Given the description of an element on the screen output the (x, y) to click on. 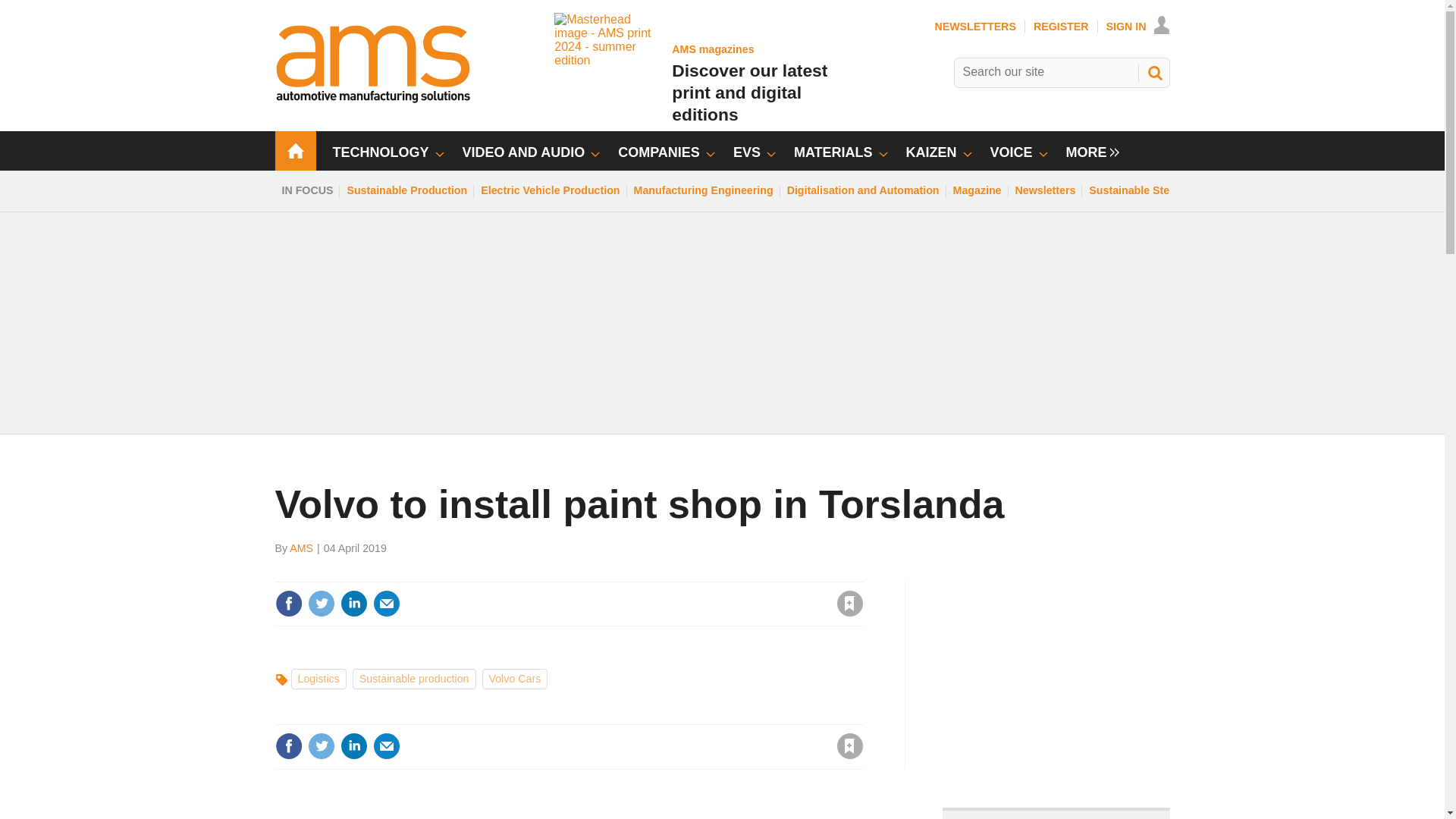
Share this on Twitter (320, 746)
Electric Vehicle Production (550, 190)
SIGN IN (1138, 26)
Manufacturing Engineering (703, 190)
Share this on Linked in (352, 603)
REGISTER (1061, 26)
Share this on Facebook (288, 746)
Magazine (977, 190)
Automotive Manufacturing Solutions (373, 98)
Sustainable Steel Survey (690, 71)
SEARCH (1152, 190)
Newsletters (1153, 72)
Email this article (1046, 190)
Digitalisation and Automation (386, 603)
